Given the description of an element on the screen output the (x, y) to click on. 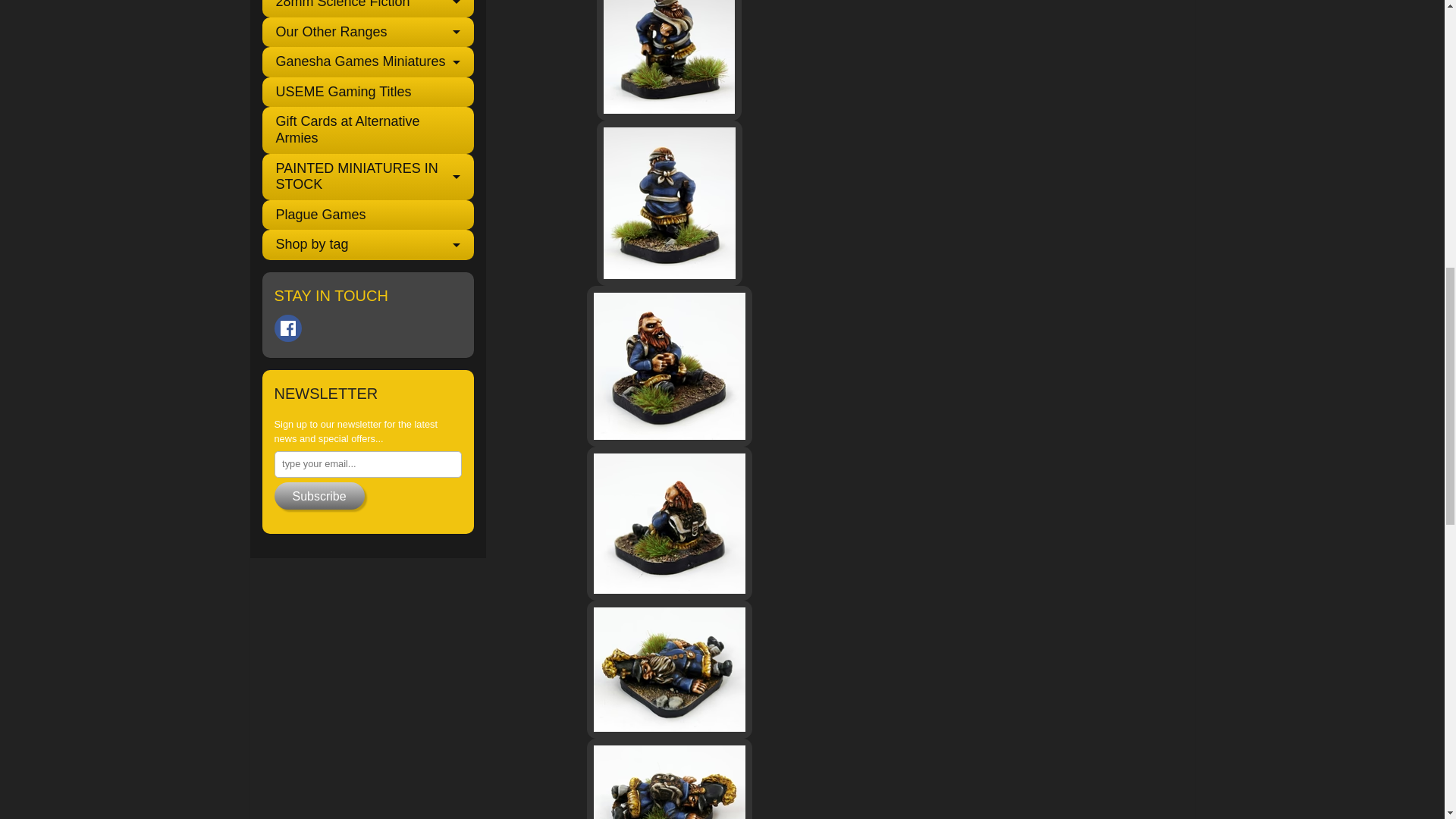
52022 Legion de Nain Casualties (669, 778)
52022 Legion de Nain Casualties (668, 60)
52022 Legion de Nain Casualties (669, 365)
52022 Legion de Nain Casualties (669, 523)
Facebook (288, 328)
52022 Legion de Nain Casualties (669, 669)
